Given the description of an element on the screen output the (x, y) to click on. 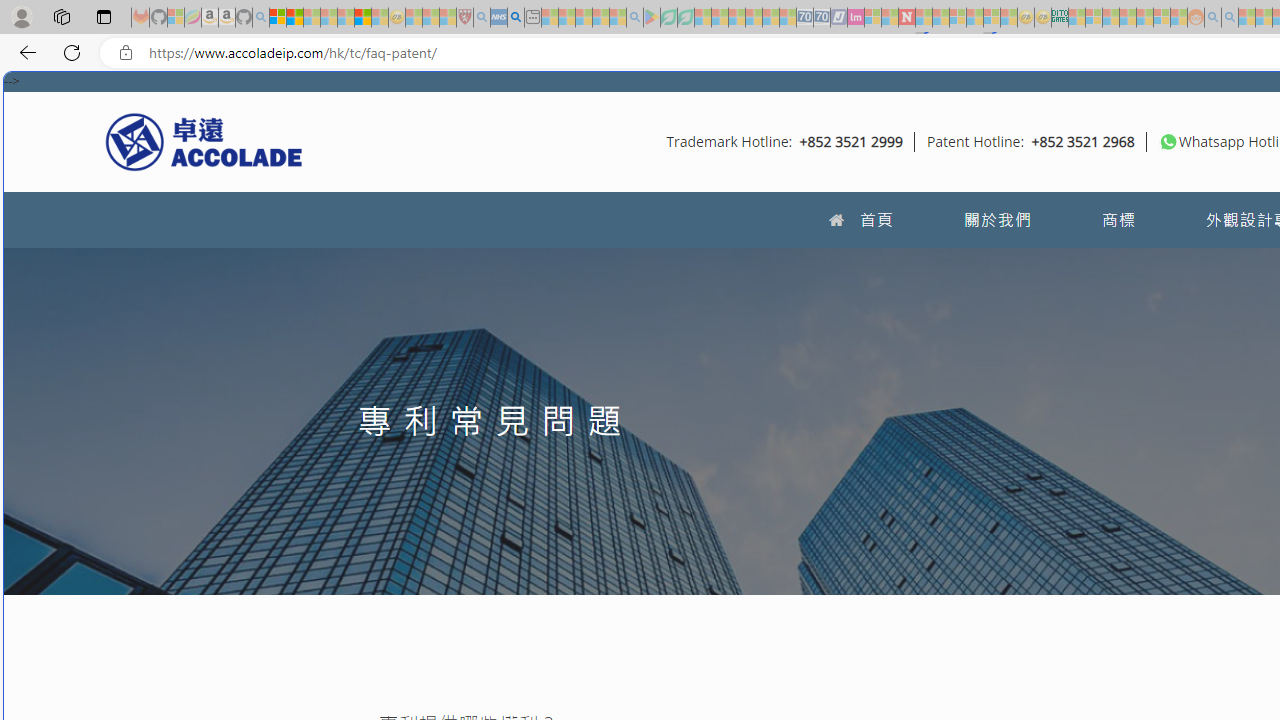
Trusted Community Engagement and Contributions | Guidelines (923, 17)
To get missing image descriptions, open the context menu. (1168, 141)
Bluey: Let's Play! - Apps on Google Play - Sleeping (651, 17)
The Weather Channel - MSN - Sleeping (311, 17)
Latest Politics News & Archive | Newsweek.com - Sleeping (906, 17)
